Given the description of an element on the screen output the (x, y) to click on. 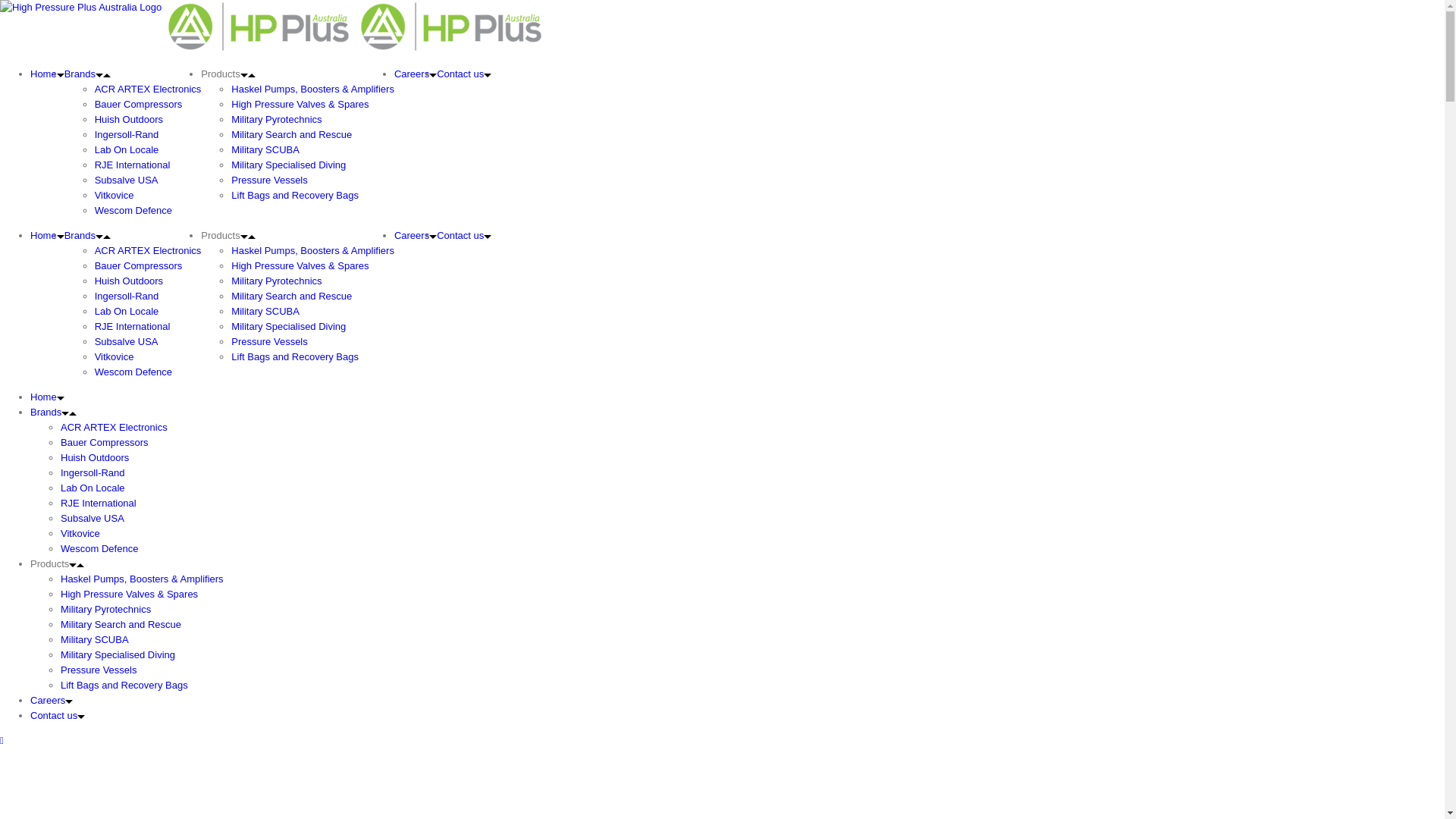
ACR ARTEX Electronics Element type: text (113, 427)
Brands Element type: text (87, 73)
Haskel Pumps, Boosters & Amplifiers Element type: text (141, 578)
Military Pyrotechnics Element type: text (276, 119)
Pressure Vessels Element type: text (269, 179)
Bauer Compressors Element type: text (104, 442)
Lab On Locale Element type: text (126, 310)
Products Element type: text (227, 73)
Huish Outdoors Element type: text (128, 119)
Contact us Element type: text (463, 73)
Home Element type: text (47, 235)
Huish Outdoors Element type: text (94, 457)
Military Pyrotechnics Element type: text (276, 280)
Military Specialised Diving Element type: text (117, 654)
Pressure Vessels Element type: text (98, 669)
Contact us Element type: text (57, 715)
Military Search and Rescue Element type: text (120, 624)
Vitkovice Element type: text (114, 356)
Home Element type: text (47, 396)
High Pressure Valves & Spares Element type: text (128, 593)
Vitkovice Element type: text (114, 194)
Military Specialised Diving Element type: text (288, 326)
Ingersoll-Rand Element type: text (126, 134)
Huish Outdoors Element type: text (128, 280)
Lift Bags and Recovery Bags Element type: text (294, 194)
RJE International Element type: text (132, 326)
Careers Element type: text (415, 73)
Subsalve USA Element type: text (92, 518)
Lift Bags and Recovery Bags Element type: text (124, 684)
Military Search and Rescue Element type: text (291, 295)
Haskel Pumps, Boosters & Amplifiers Element type: text (312, 88)
RJE International Element type: text (98, 502)
Lab On Locale Element type: text (92, 487)
Brands Element type: text (53, 411)
Lab On Locale Element type: text (126, 149)
Wescom Defence Element type: text (133, 210)
Brands Element type: text (87, 235)
High Pressure Valves & Spares Element type: text (299, 265)
Wescom Defence Element type: text (99, 548)
Military SCUBA Element type: text (265, 149)
Military Pyrotechnics Element type: text (105, 609)
Bauer Compressors Element type: text (138, 103)
ACR ARTEX Electronics Element type: text (147, 88)
Bauer Compressors Element type: text (138, 265)
Military SCUBA Element type: text (265, 310)
Haskel Pumps, Boosters & Amplifiers Element type: text (312, 250)
Products Element type: text (227, 235)
Subsalve USA Element type: text (126, 341)
RJE International Element type: text (132, 164)
Pressure Vessels Element type: text (269, 341)
Military Specialised Diving Element type: text (288, 164)
Home Element type: text (47, 73)
ACR ARTEX Electronics Element type: text (147, 250)
Ingersoll-Rand Element type: text (126, 295)
Military Search and Rescue Element type: text (291, 134)
Products Element type: text (57, 563)
Vitkovice Element type: text (80, 533)
Military SCUBA Element type: text (94, 639)
Lift Bags and Recovery Bags Element type: text (294, 356)
Careers Element type: text (415, 235)
Wescom Defence Element type: text (133, 371)
High Pressure Valves & Spares Element type: text (299, 103)
Ingersoll-Rand Element type: text (92, 472)
Subsalve USA Element type: text (126, 179)
Careers Element type: text (51, 700)
Contact us Element type: text (463, 235)
